Given the description of an element on the screen output the (x, y) to click on. 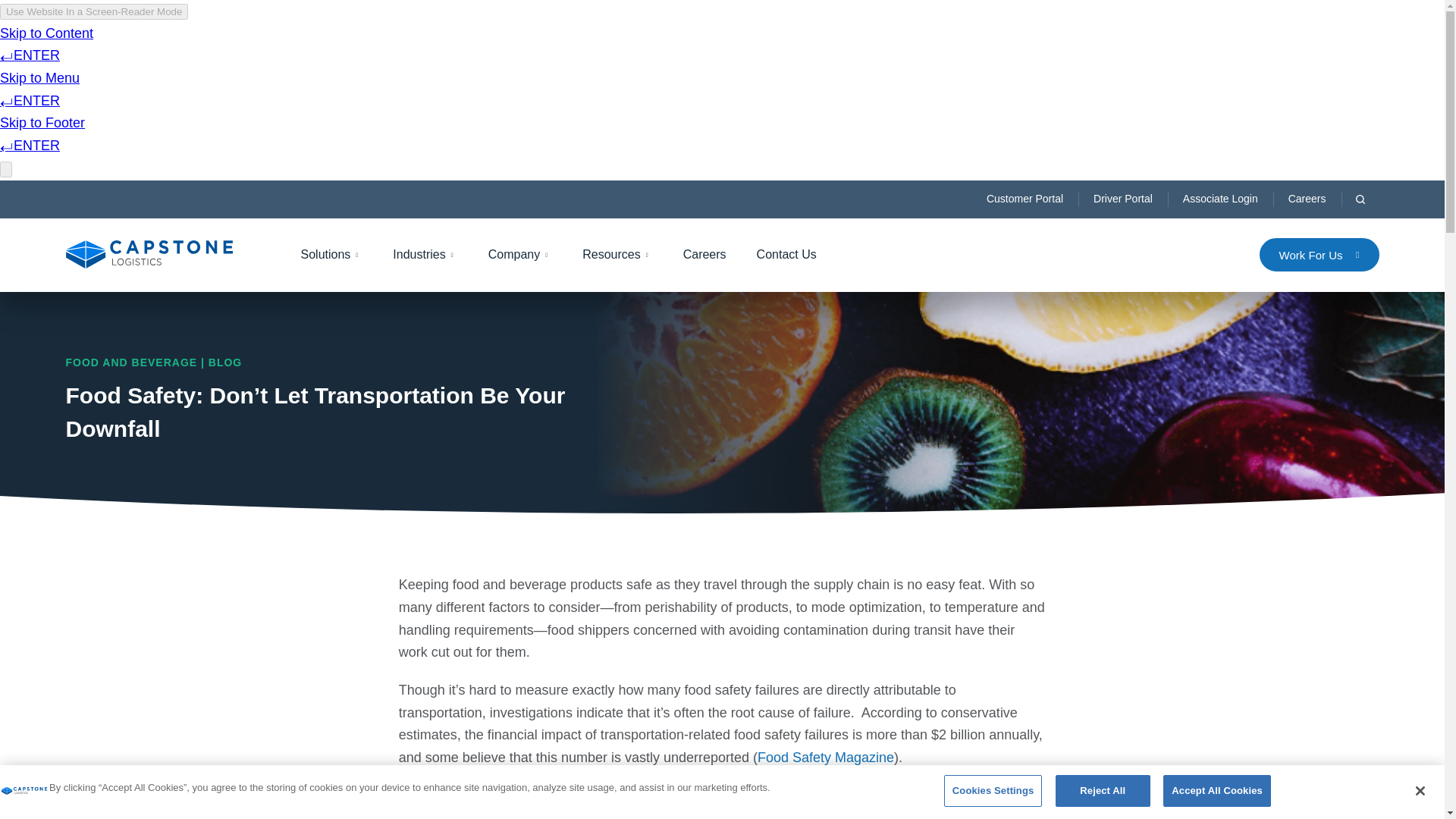
Driver Portal (1123, 198)
Customer Portal (1024, 198)
Careers (1307, 198)
Solutions (331, 254)
Capstone Logistics (24, 792)
Industries (424, 254)
Associate Login (1219, 198)
